Given the description of an element on the screen output the (x, y) to click on. 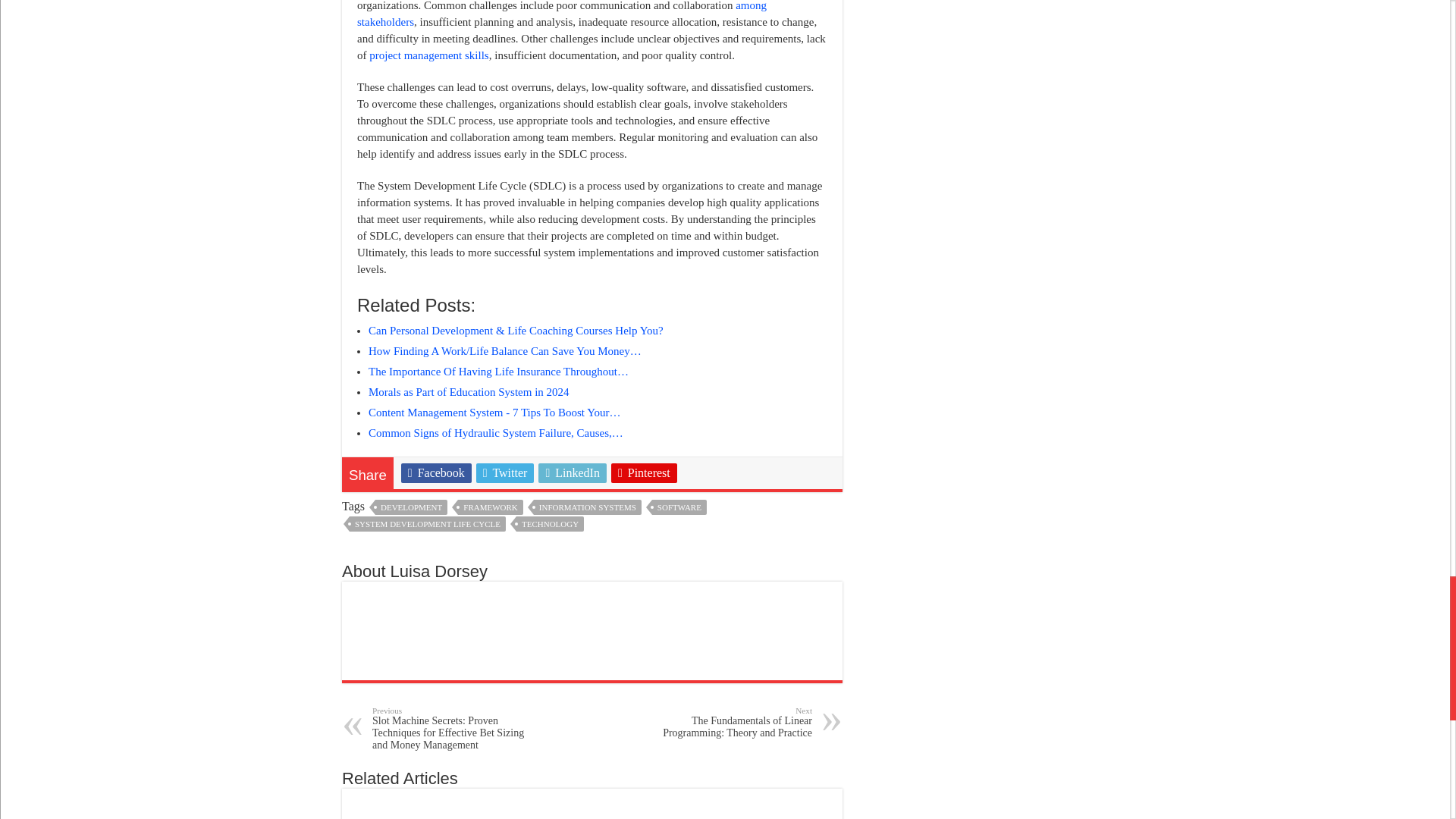
Facebook (436, 473)
among stakeholders (561, 13)
Morals as Part of Education System in 2024 (468, 391)
Twitter (505, 473)
Pinterest (644, 473)
LinkedIn (572, 473)
project management skills (428, 55)
